Given the description of an element on the screen output the (x, y) to click on. 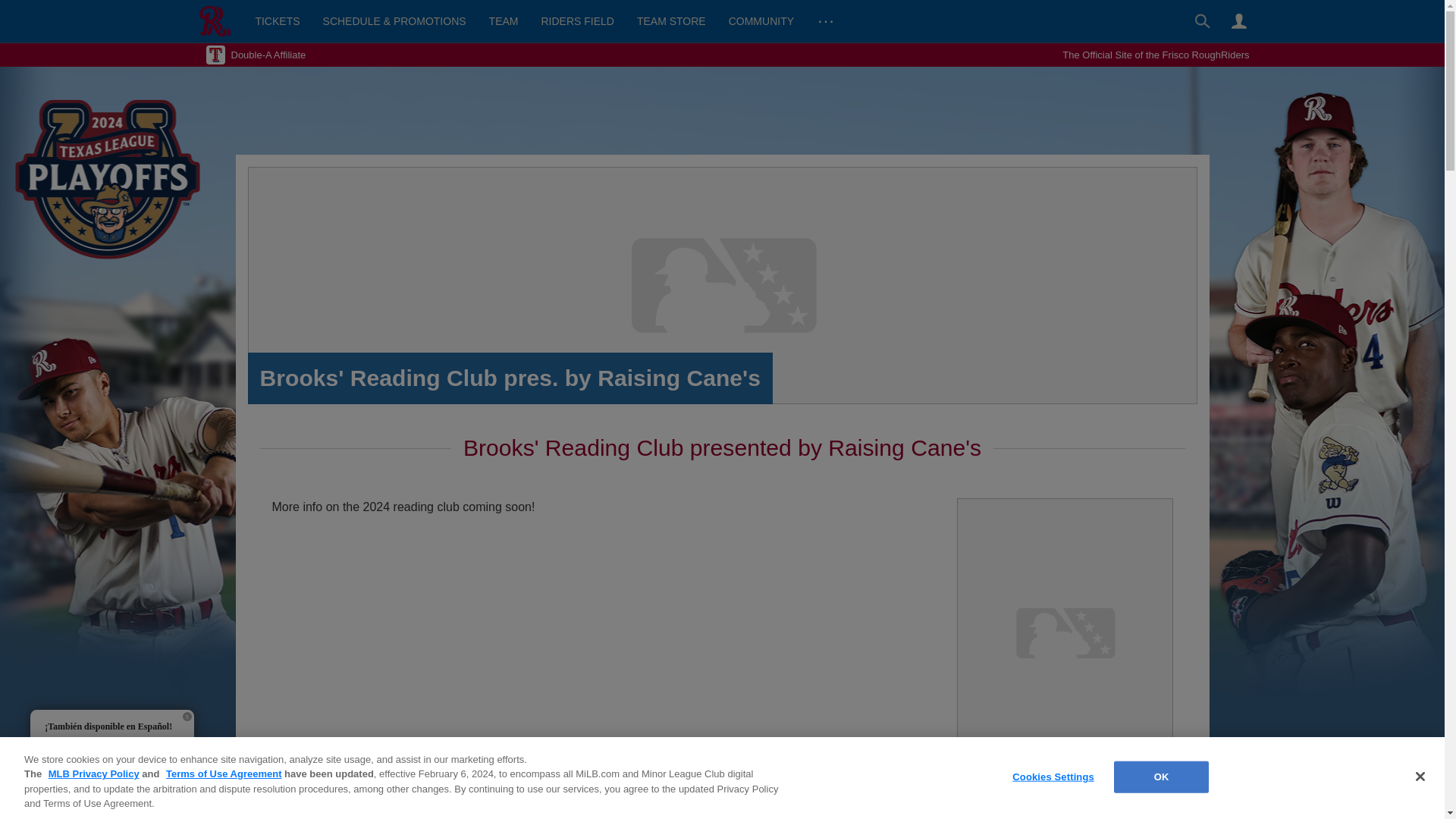
TICKETS (277, 21)
RIDERS FIELD (576, 21)
TEAM STORE (671, 21)
TEAM (503, 21)
